Given the description of an element on the screen output the (x, y) to click on. 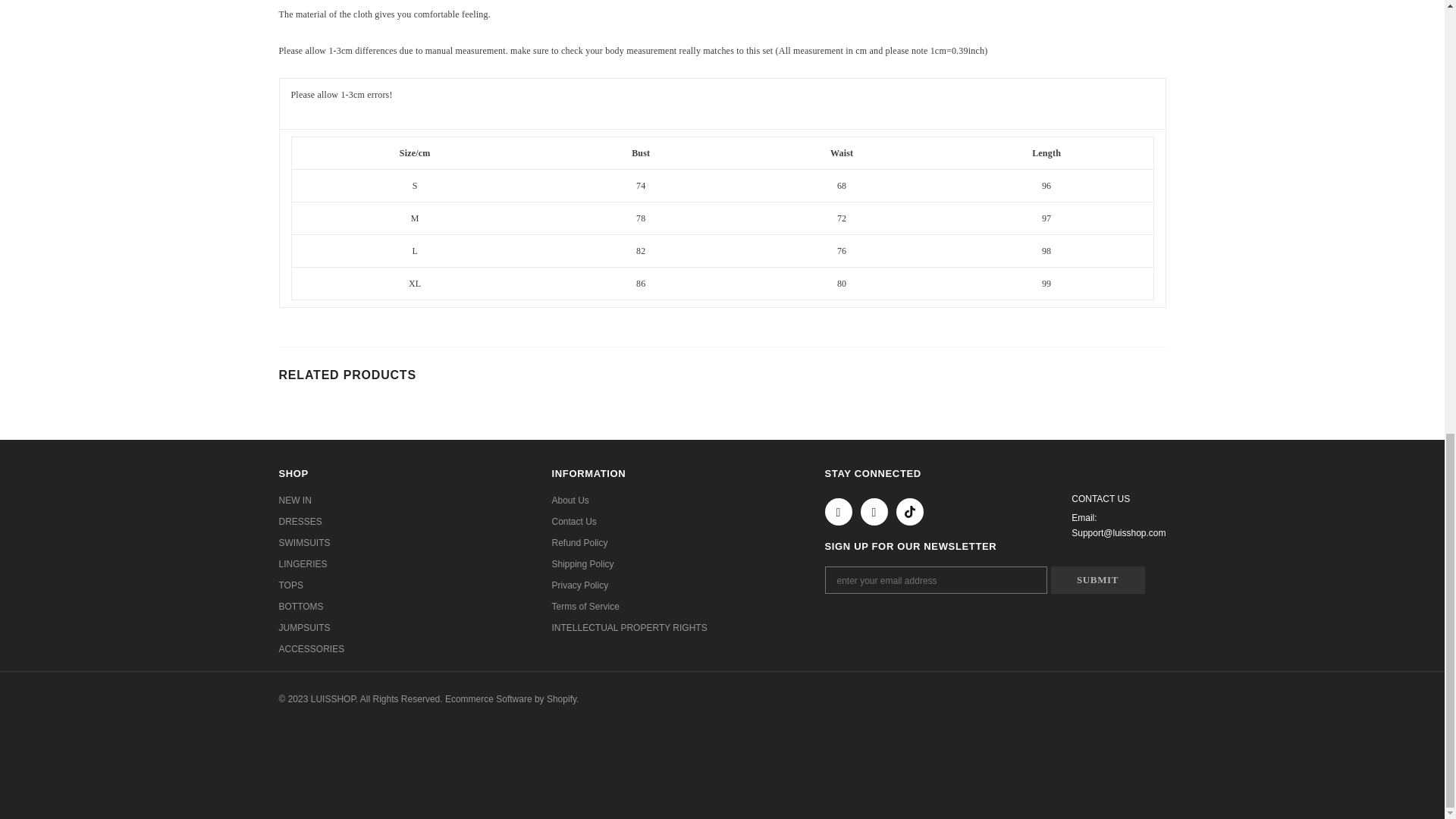
Submit (1097, 579)
